Given the description of an element on the screen output the (x, y) to click on. 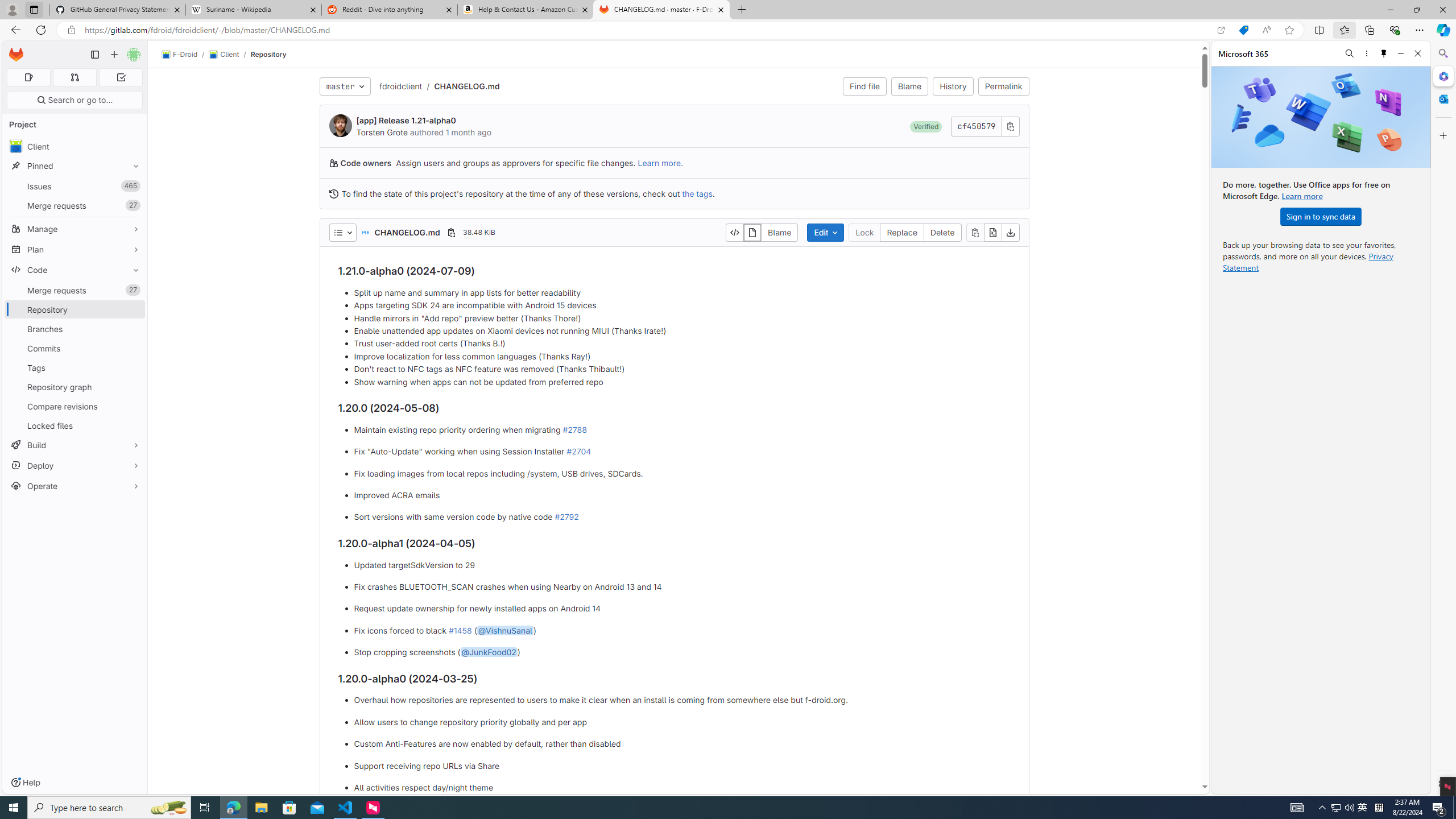
Copy file path (451, 232)
Issues465 (74, 185)
Display source (734, 232)
Branches (74, 328)
avatar Client (74, 145)
Merge requests27 (74, 289)
F-Droid/ (185, 54)
All activities respect day/night theme (681, 787)
Stop cropping screenshots (@JunkFood02) (681, 652)
